Given the description of an element on the screen output the (x, y) to click on. 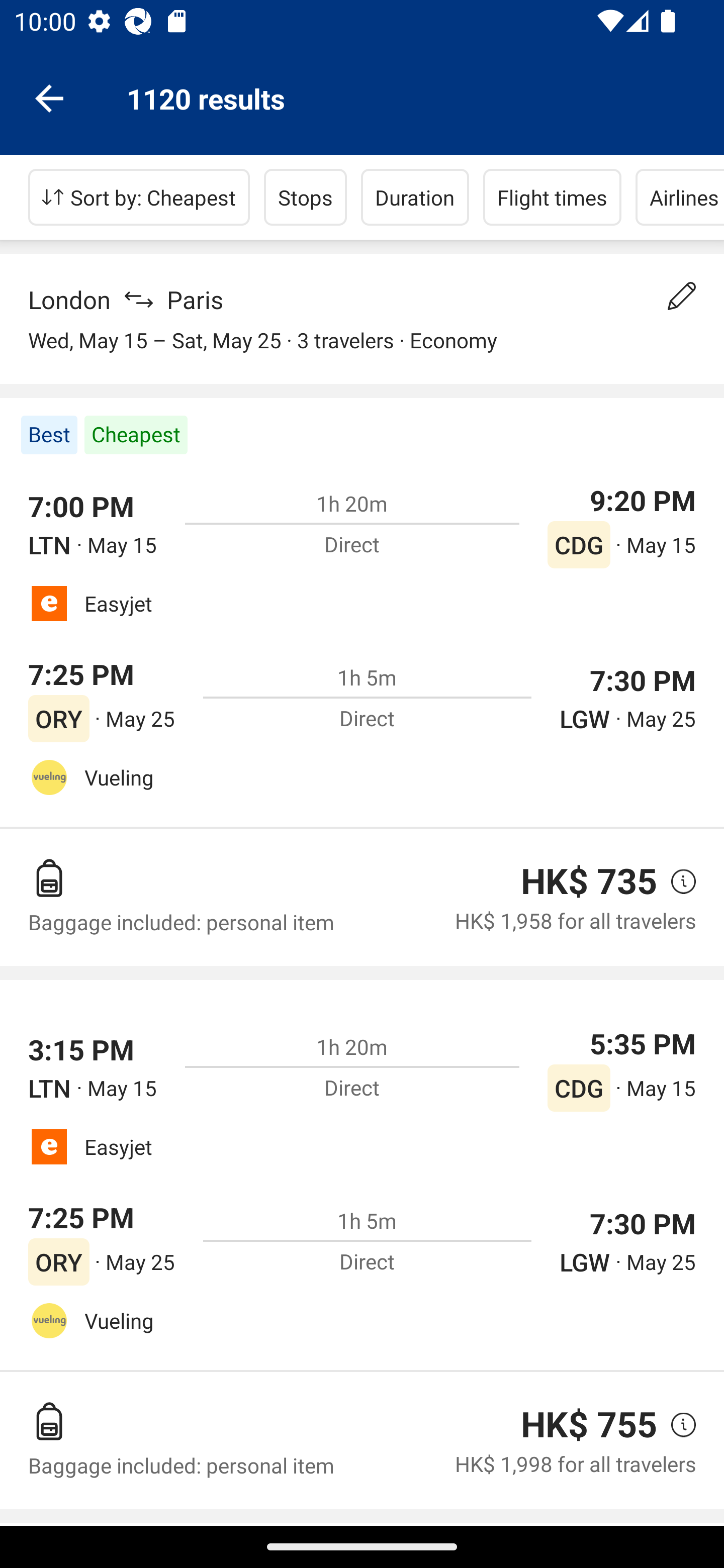
Navigate up (49, 97)
Sort by: Cheapest (138, 197)
Stops (305, 197)
Duration (415, 197)
Flight times (551, 197)
Airlines (679, 197)
Change your search details (681, 296)
HK$ 735 (588, 881)
view price details, opens a pop-up (676, 881)
HK$ 755 (588, 1424)
view price details, opens a pop-up (676, 1424)
